Given the description of an element on the screen output the (x, y) to click on. 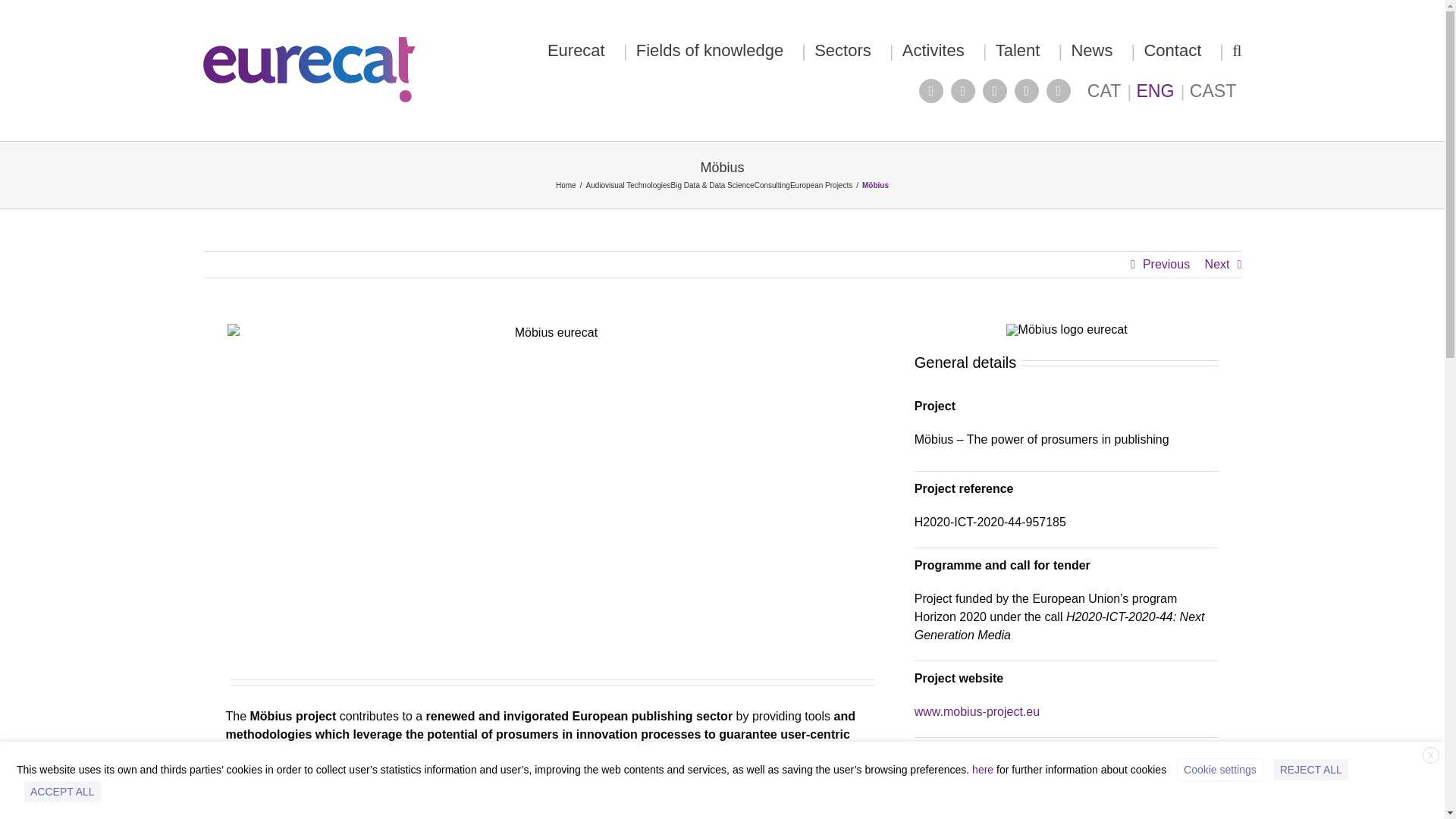
Untitled-1-1 (1066, 790)
Search (1236, 50)
Eurecat (576, 50)
Fields of knowledge (709, 50)
